Given the description of an element on the screen output the (x, y) to click on. 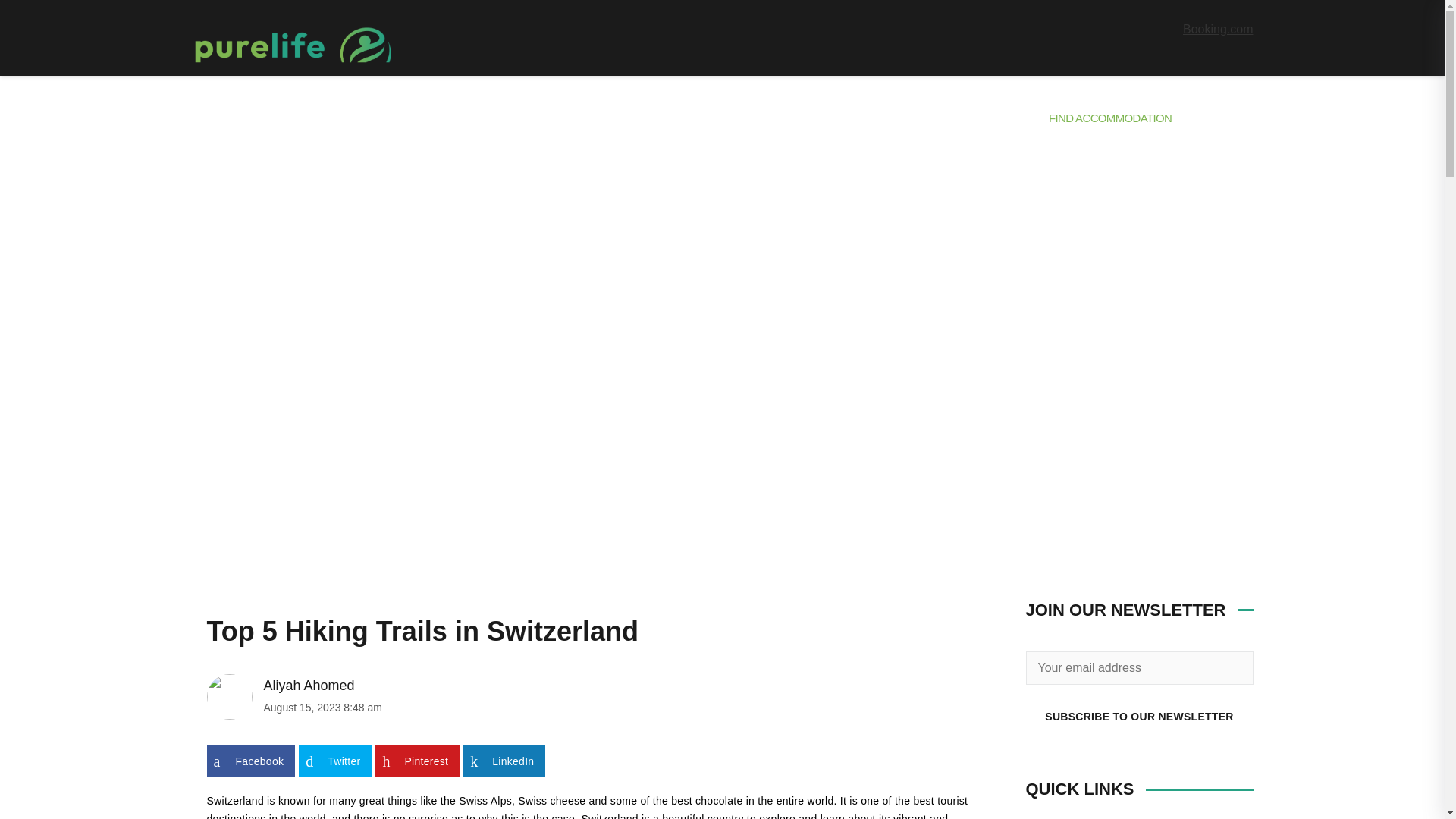
Go to Home (205, 483)
Share on Twitter (334, 761)
View all posts by Aliyah Ahomed (395, 685)
Subscribe to Our Newsletter (1138, 716)
Share on Pinterest (417, 761)
DESTINATIONS (235, 118)
Go to the Activities Category archives. (258, 483)
Share on Facebook (250, 761)
Share on LinkedIn (503, 761)
Go to the Hiking Category archives. (313, 483)
